Given the description of an element on the screen output the (x, y) to click on. 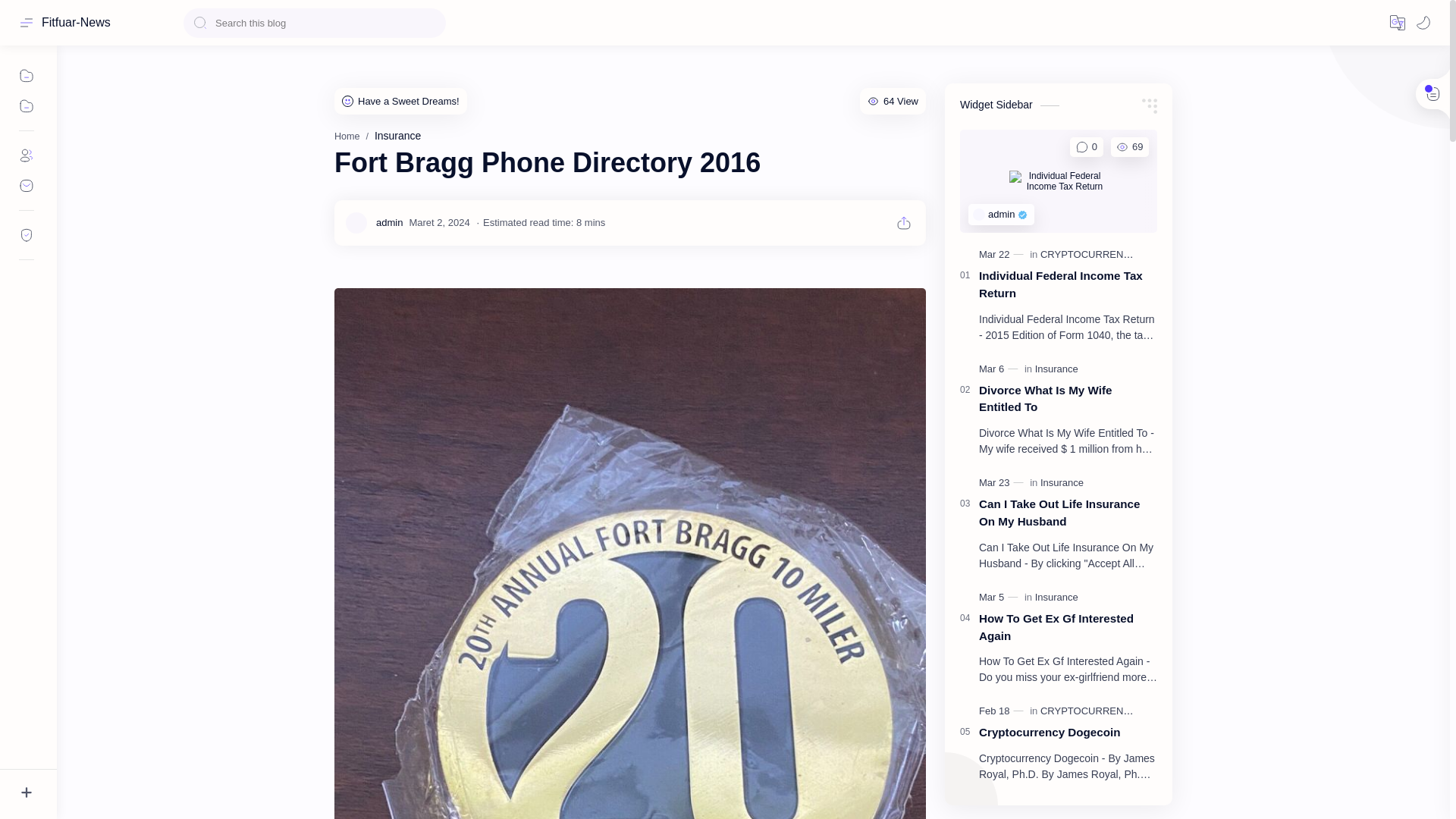
Published: Maret 2, 2024 (438, 222)
Insurance (397, 135)
Published: Maret 5, 2024 (1000, 597)
Fitfuar-News (76, 22)
Published: Maret 6, 2024 (1000, 368)
Published: Maret 23, 2024 (1002, 482)
Home (346, 136)
Published: Februari 18, 2024 (1002, 711)
Published: Maret 22, 2024 (1002, 254)
